Given the description of an element on the screen output the (x, y) to click on. 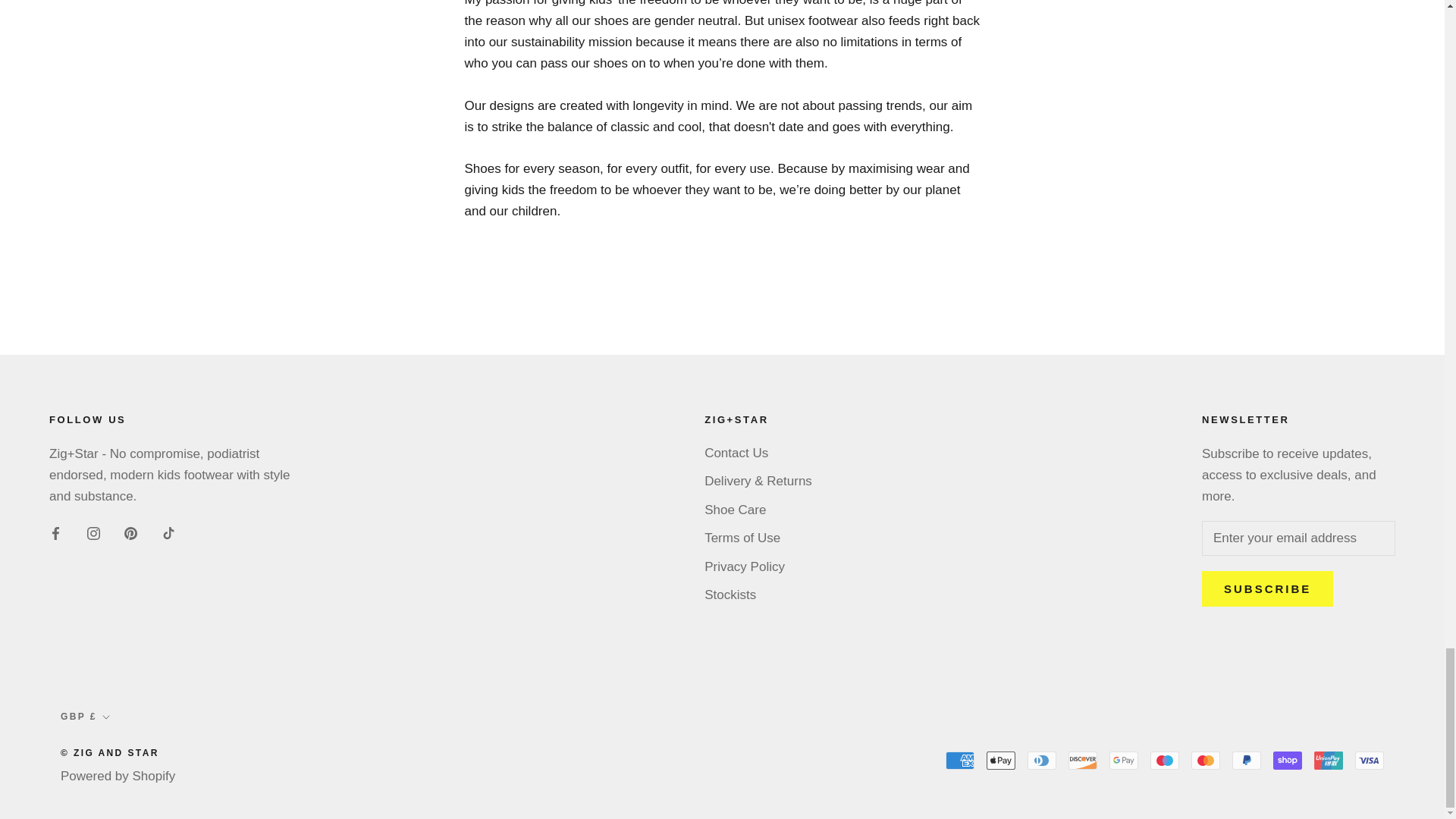
Visa (1369, 760)
Apple Pay (1000, 760)
Mastercard (1205, 760)
PayPal (1245, 760)
American Express (959, 760)
Shop Pay (1286, 760)
Google Pay (1123, 760)
Discover (1082, 760)
Union Pay (1328, 760)
Maestro (1164, 760)
Diners Club (1042, 760)
